Given the description of an element on the screen output the (x, y) to click on. 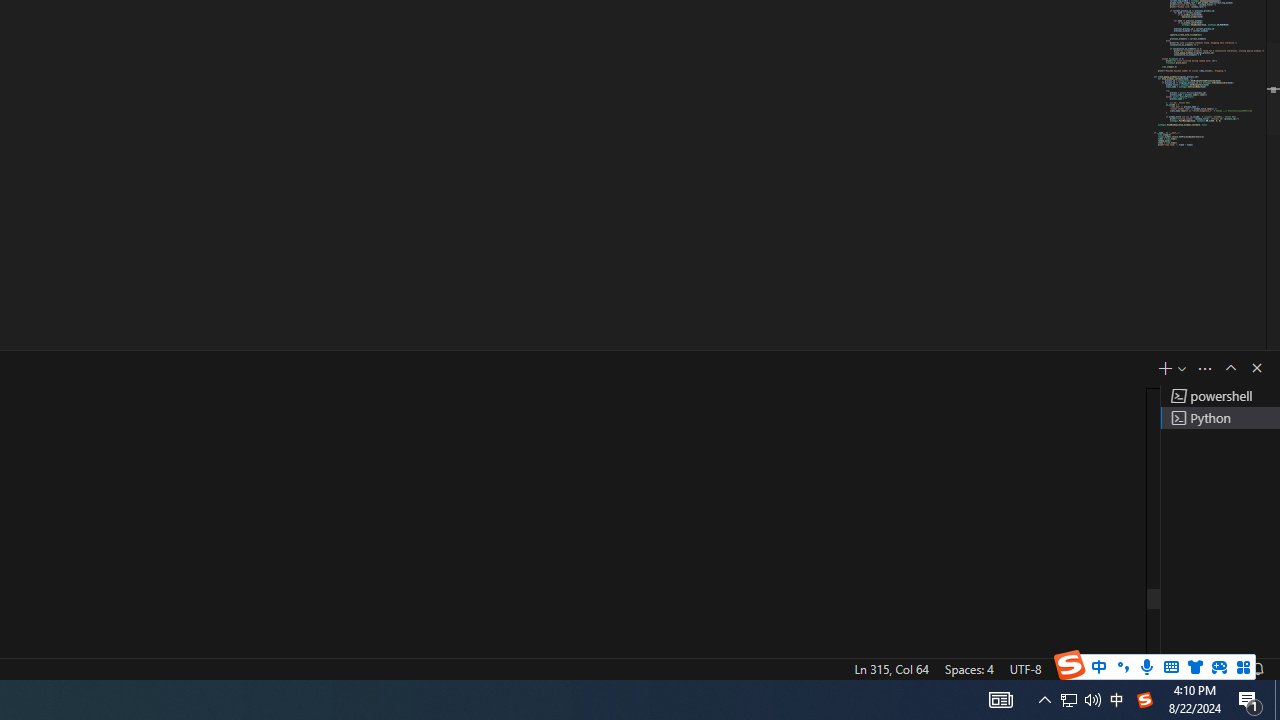
Terminal 1 powershell (1220, 395)
Views and More Actions... (1205, 368)
CRLF (1070, 668)
Launch Profile... (1181, 368)
Hide Panel (1256, 367)
Ln 315, Col 64 (891, 668)
Spaces: 4 (968, 668)
Python (1135, 668)
Terminal 2 Python (1220, 417)
Notifications (1257, 668)
